Given the description of an element on the screen output the (x, y) to click on. 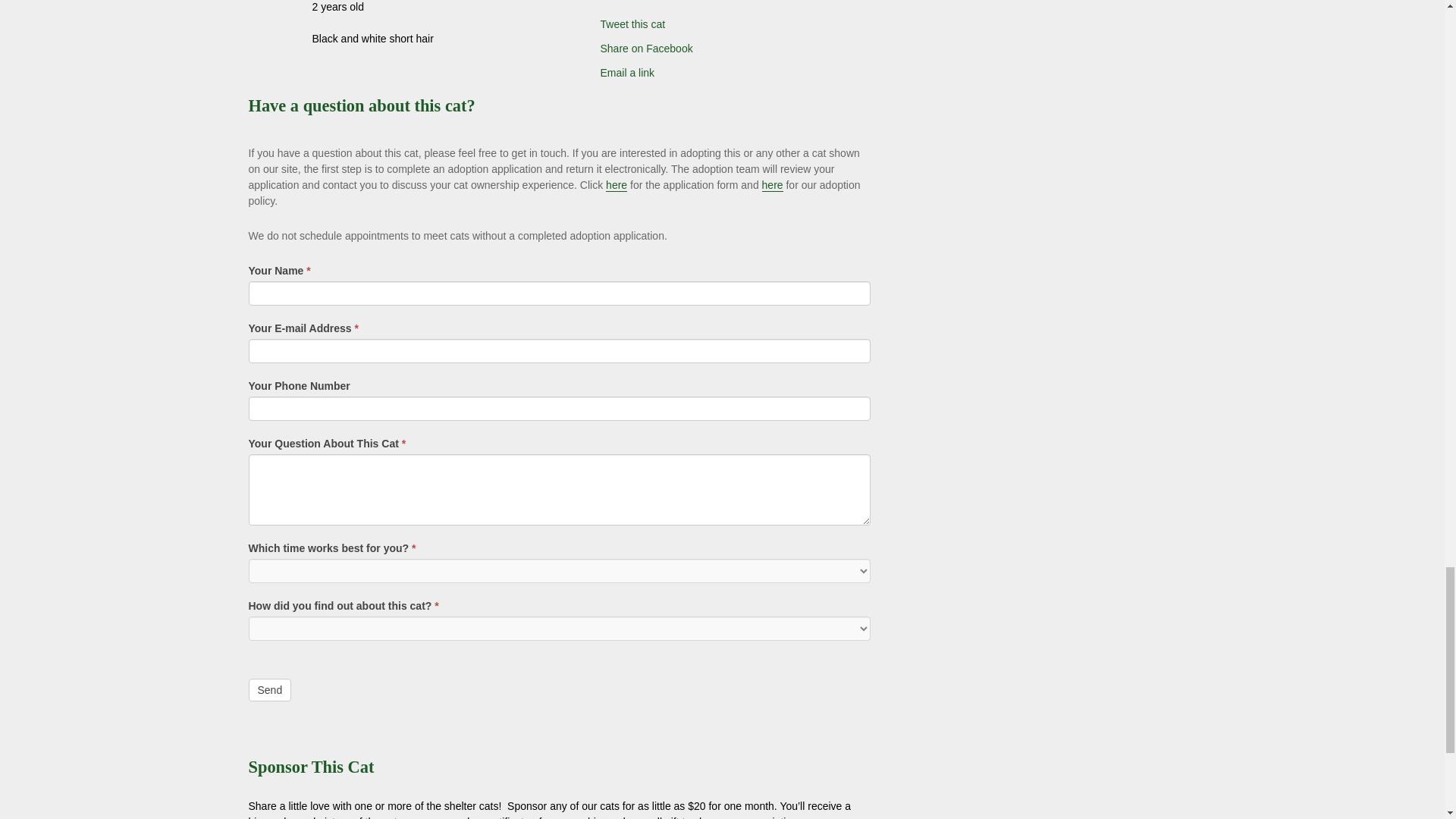
Share on Facebook (700, 46)
Tweet this cat (700, 21)
Email a link (700, 70)
here (616, 185)
Send (270, 689)
here (772, 185)
Send (270, 689)
